Given the description of an element on the screen output the (x, y) to click on. 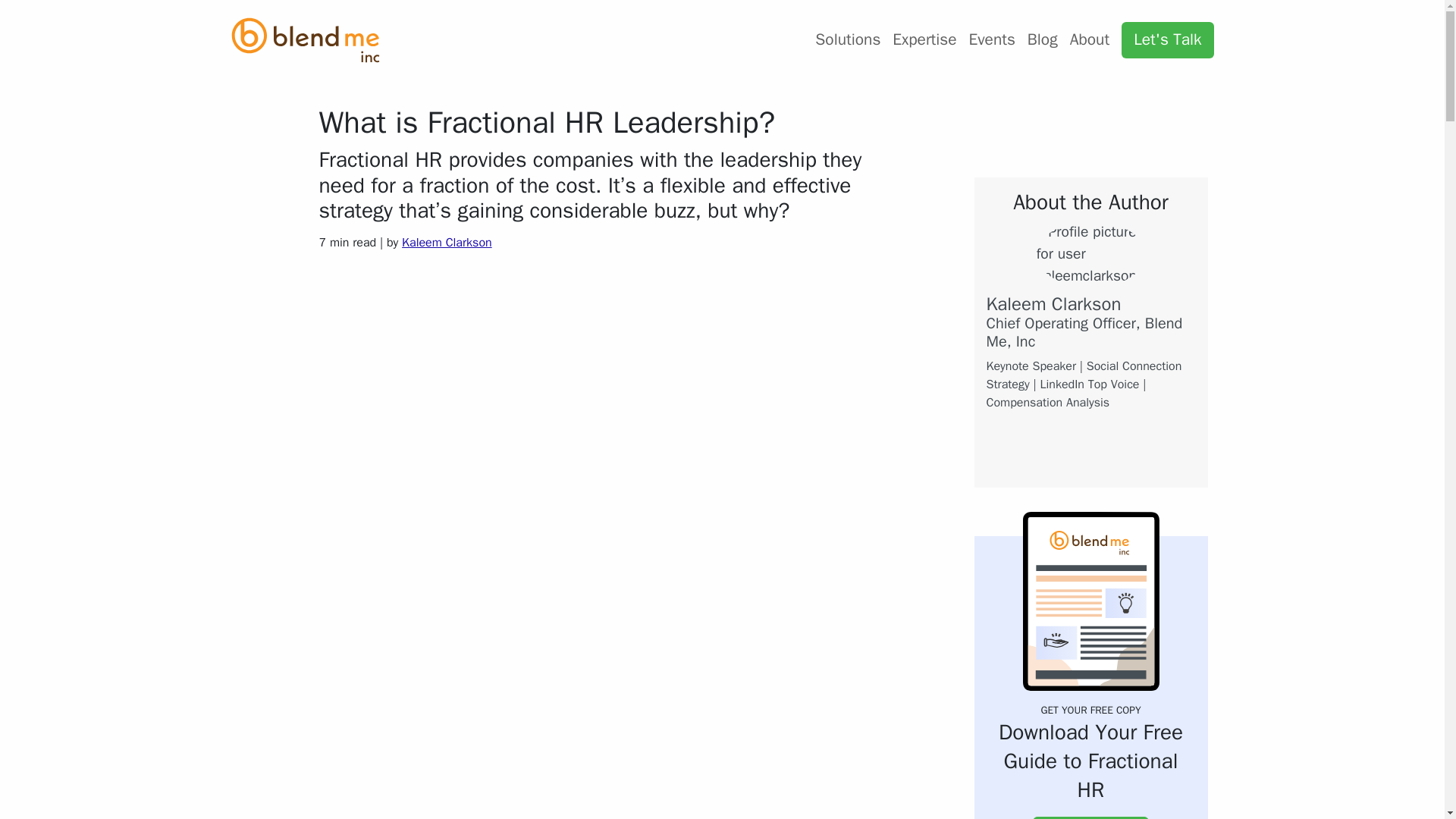
About (1089, 40)
Our expertise centers around The Remote Employee Experience (924, 40)
Expertise (924, 40)
Blog (1043, 40)
Let's Talk (1166, 40)
Events (992, 40)
View user profile. (446, 242)
Home (311, 40)
Solutions (847, 40)
